Given the description of an element on the screen output the (x, y) to click on. 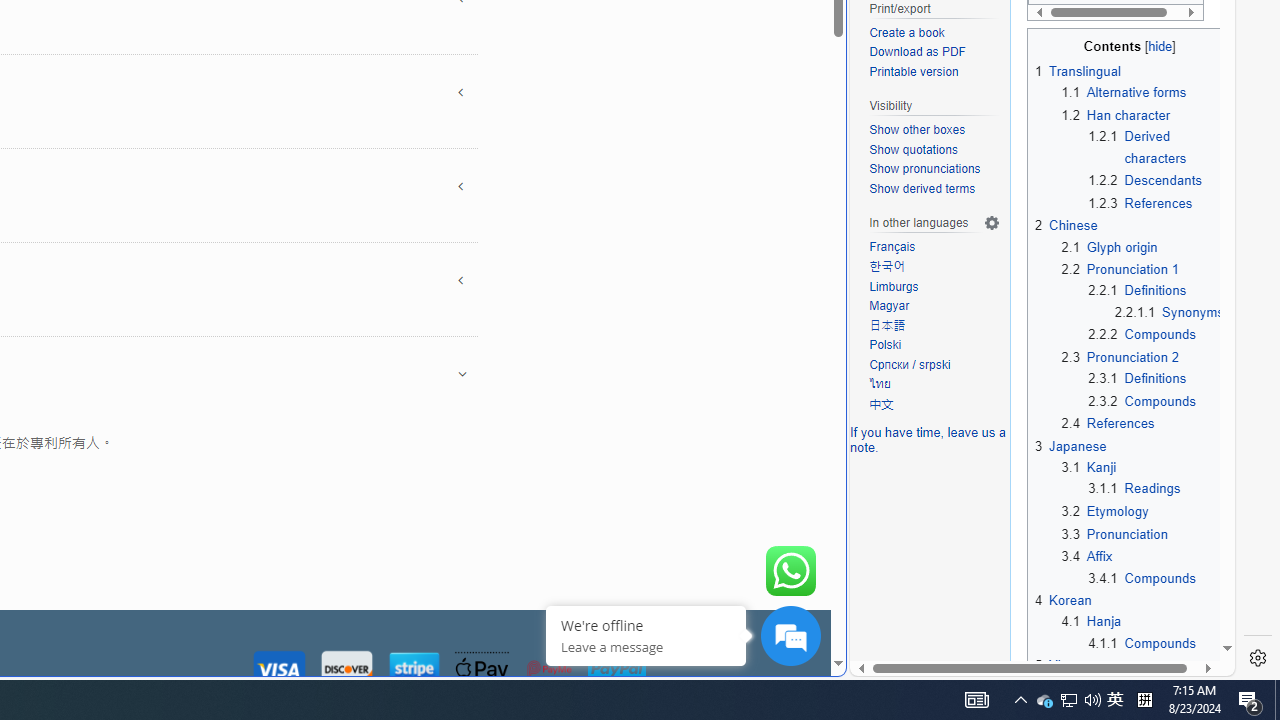
Download as PDF (934, 53)
1 Translingual (1078, 71)
2.2.2Compounds (1156, 335)
3.4.1Compounds (1156, 577)
2.1Glyph origin (1142, 246)
Limburgs (934, 287)
2.2.1.1 Synonyms (1168, 311)
Show other boxes (934, 130)
1.2 Han character (1116, 114)
